Given the description of an element on the screen output the (x, y) to click on. 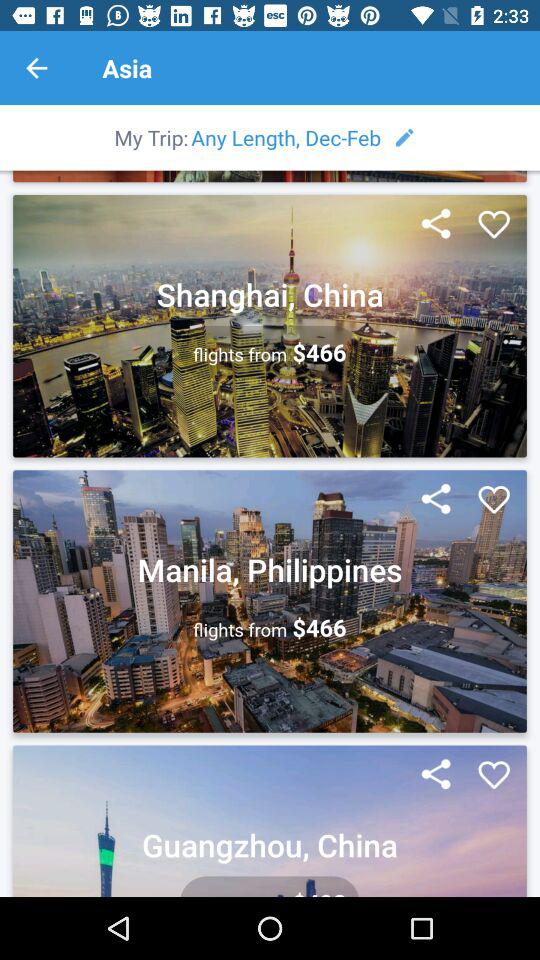
share (435, 775)
